Given the description of an element on the screen output the (x, y) to click on. 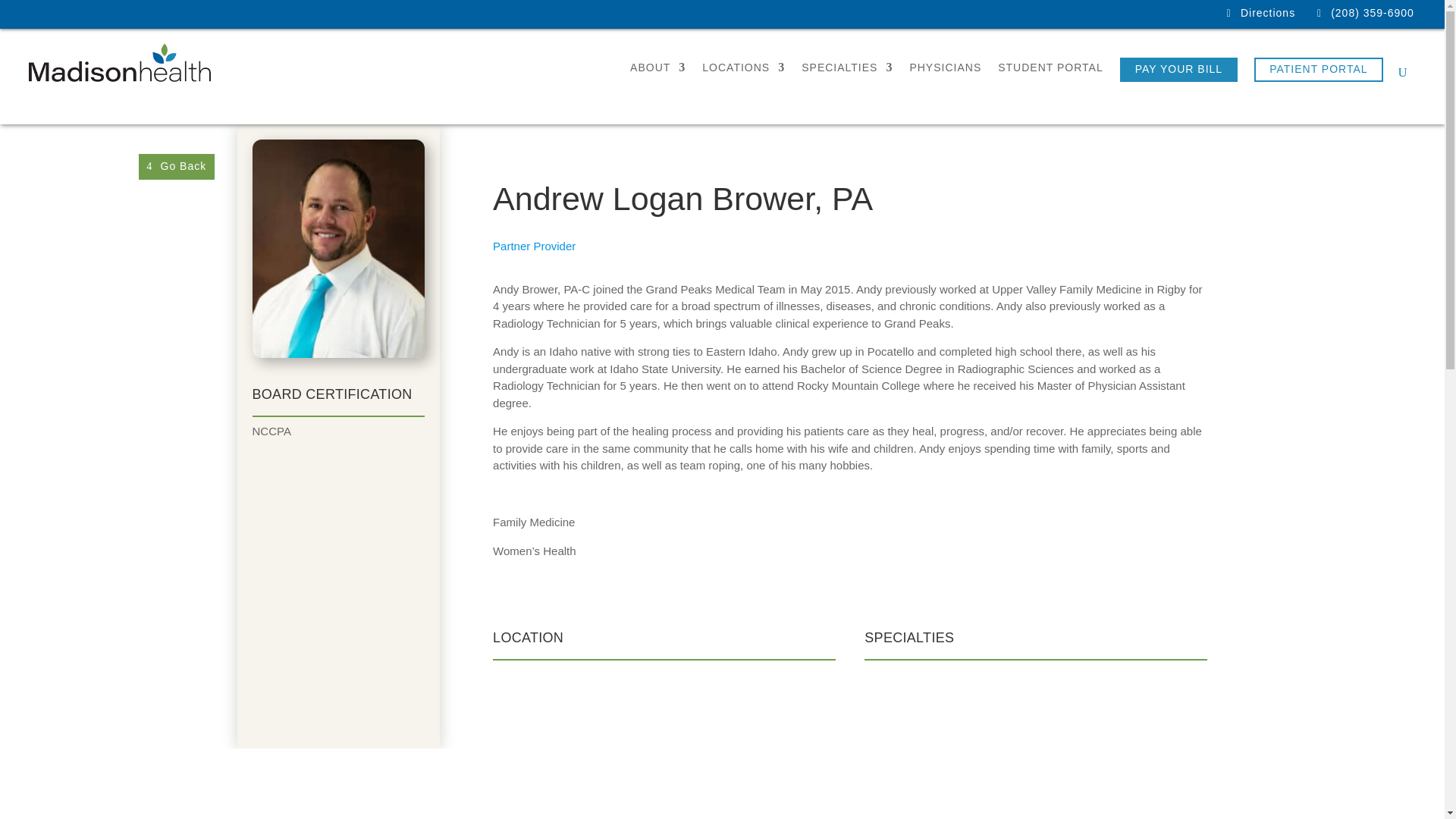
PHYSICIANS (944, 75)
ABOUT (657, 75)
PAY YOUR BILL (1178, 69)
SPECIALTIES (847, 75)
Madisonhealth-color-optimized (120, 62)
PATIENT PORTAL (1317, 69)
STUDENT PORTAL (1049, 75)
LOCATIONS (742, 75)
Directions (1268, 12)
